Given the description of an element on the screen output the (x, y) to click on. 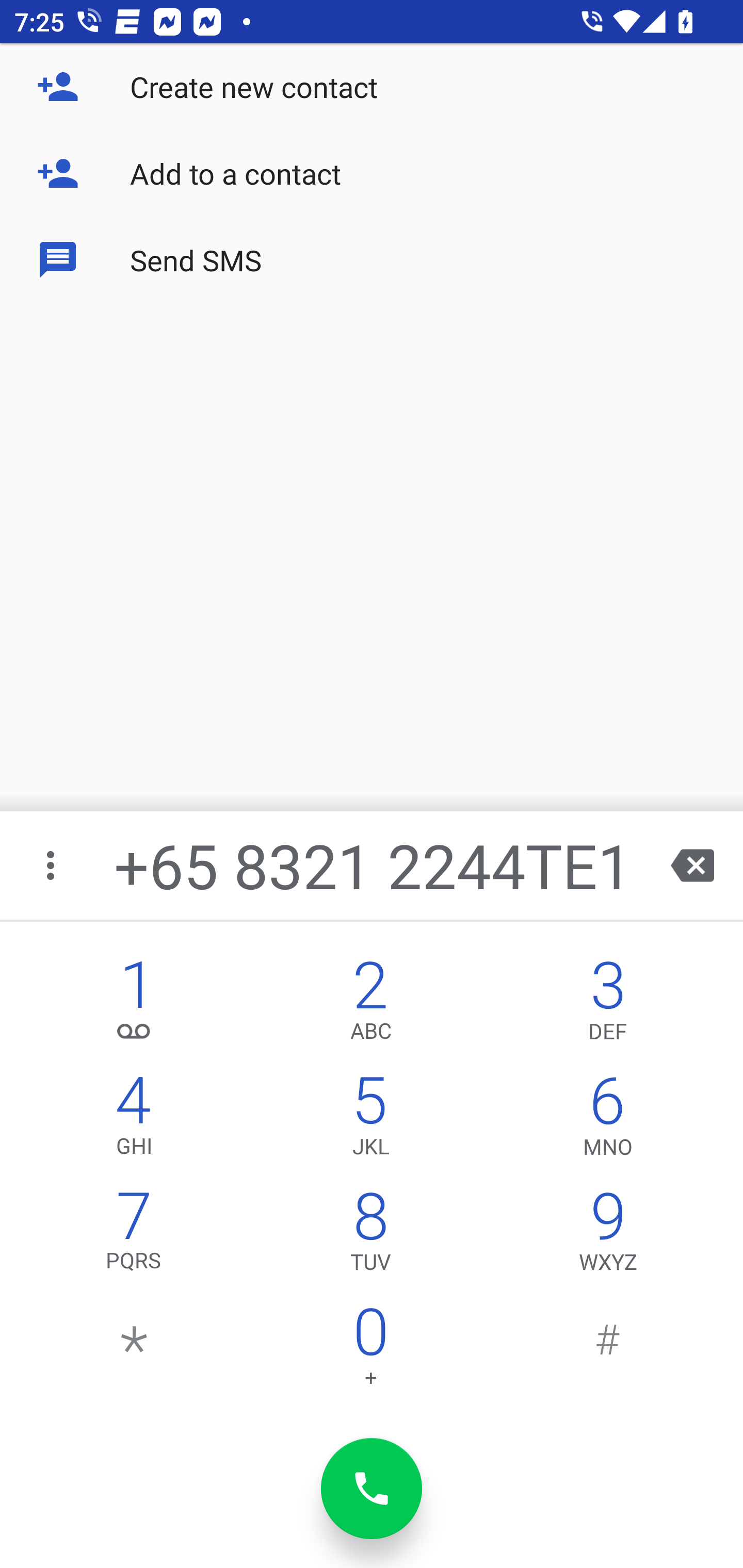
Create new contact (371, 86)
Add to a contact (371, 173)
Send SMS (371, 259)
+65 8321 2244TE1 (372, 865)
backspace (692, 865)
More options (52, 865)
1, 1 (133, 1005)
2,ABC 2 ABC (370, 1005)
3,DEF 3 DEF (607, 1005)
4,GHI 4 GHI (133, 1120)
5,JKL 5 JKL (370, 1120)
6,MNO 6 MNO (607, 1120)
7,PQRS 7 PQRS (133, 1235)
8,TUV 8 TUV (370, 1235)
9,WXYZ 9 WXYZ (607, 1235)
* (133, 1351)
0 0 + (370, 1351)
# (607, 1351)
dial (371, 1488)
